Given the description of an element on the screen output the (x, y) to click on. 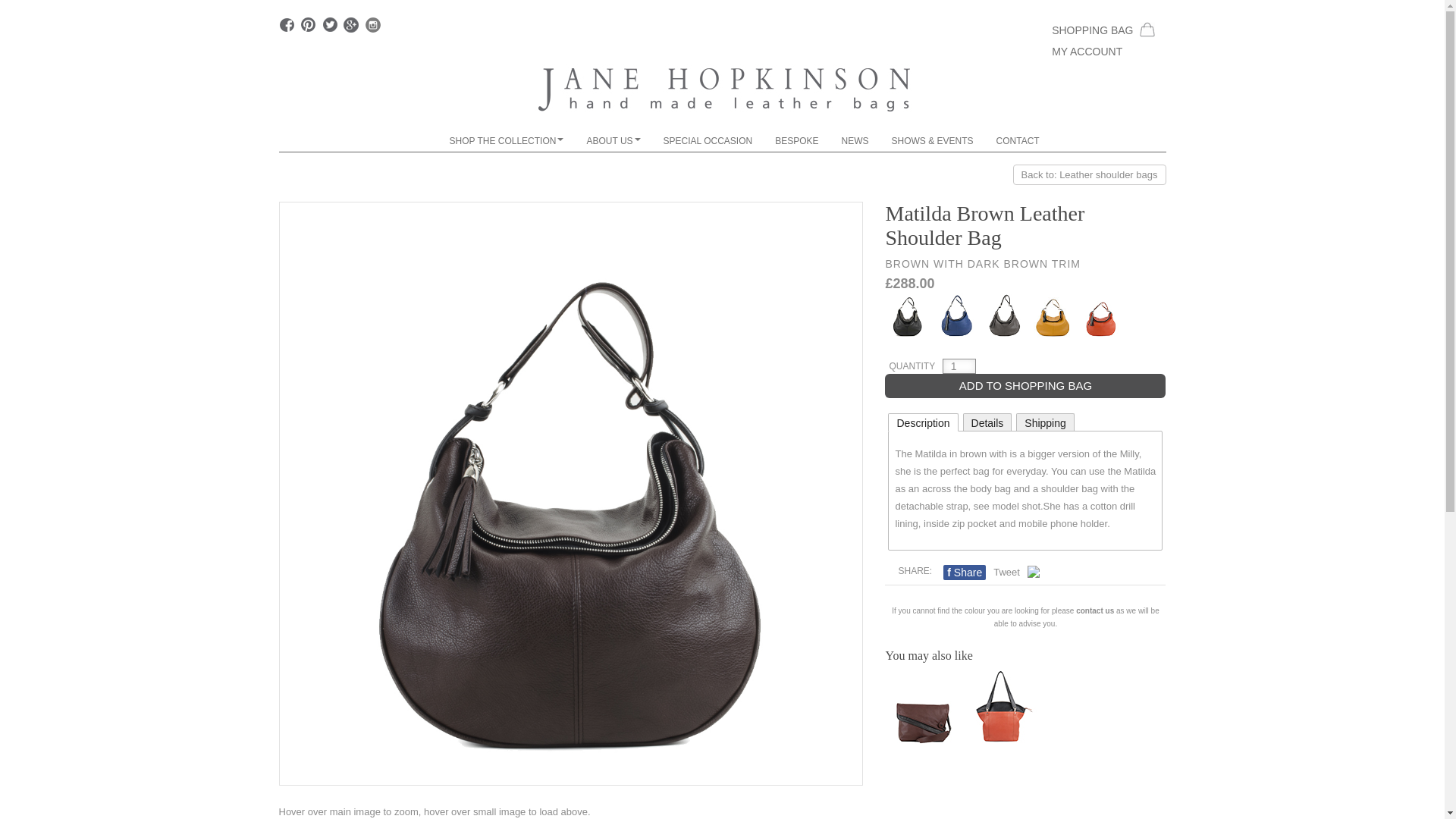
1 (958, 365)
MY ACCOUNT (1103, 51)
ABOUT US (612, 140)
Shipping (1045, 421)
Details (986, 421)
Add to shopping bag (1025, 385)
SHOPPING BAG (1103, 28)
Details (986, 421)
SPECIAL OCCASION (708, 140)
SHOP THE COLLECTION (506, 140)
BESPOKE (795, 140)
CONTACT (1018, 140)
NEWS (854, 140)
Back to: Leather shoulder bags (1089, 174)
